Given the description of an element on the screen output the (x, y) to click on. 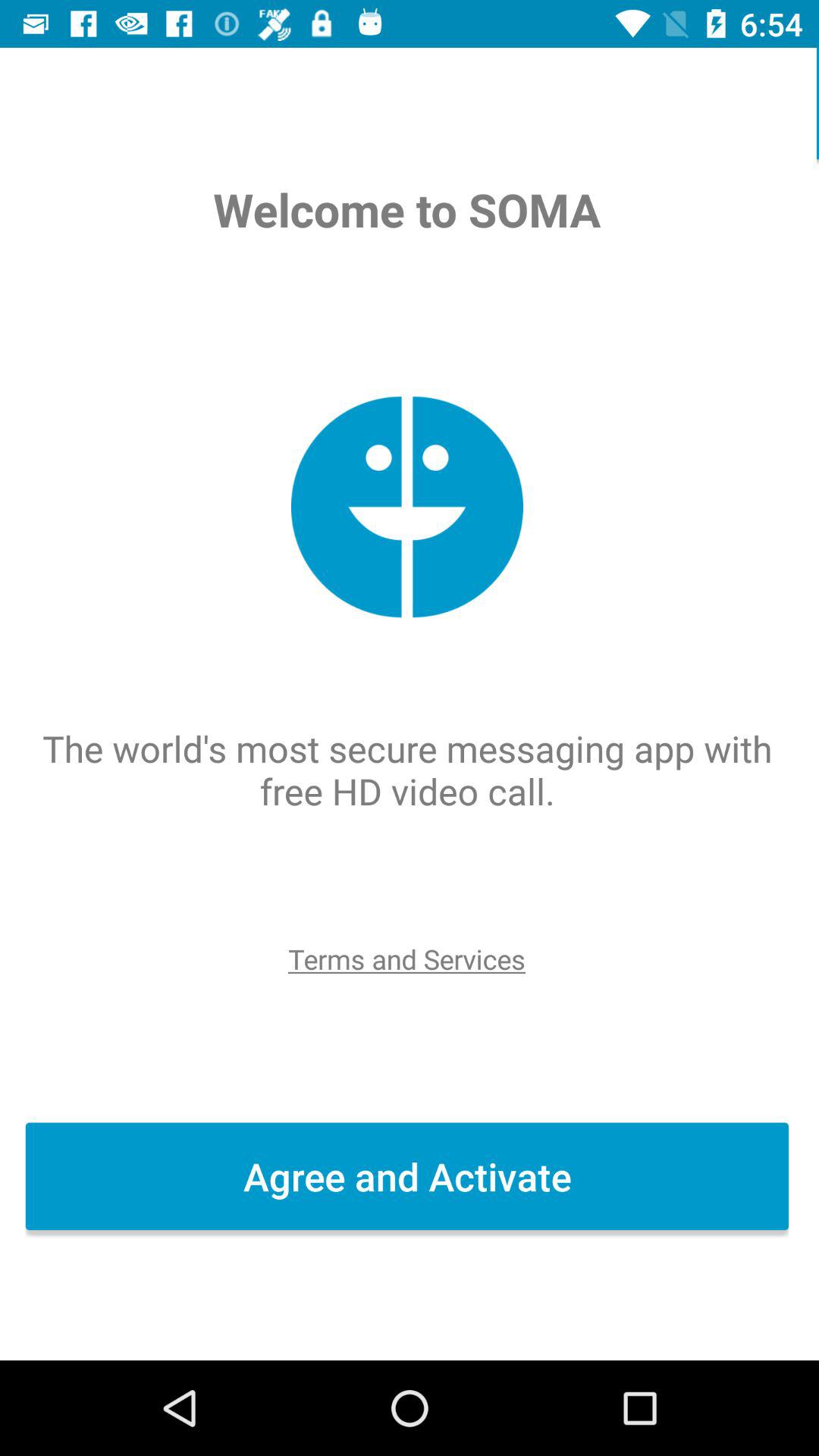
jump until agree and activate icon (409, 1176)
